Given the description of an element on the screen output the (x, y) to click on. 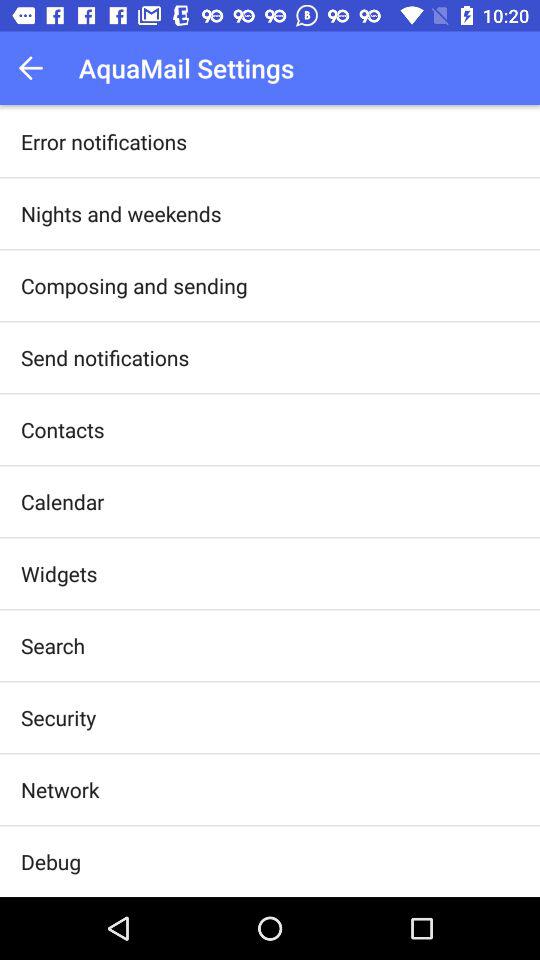
jump to widgets icon (59, 573)
